Given the description of an element on the screen output the (x, y) to click on. 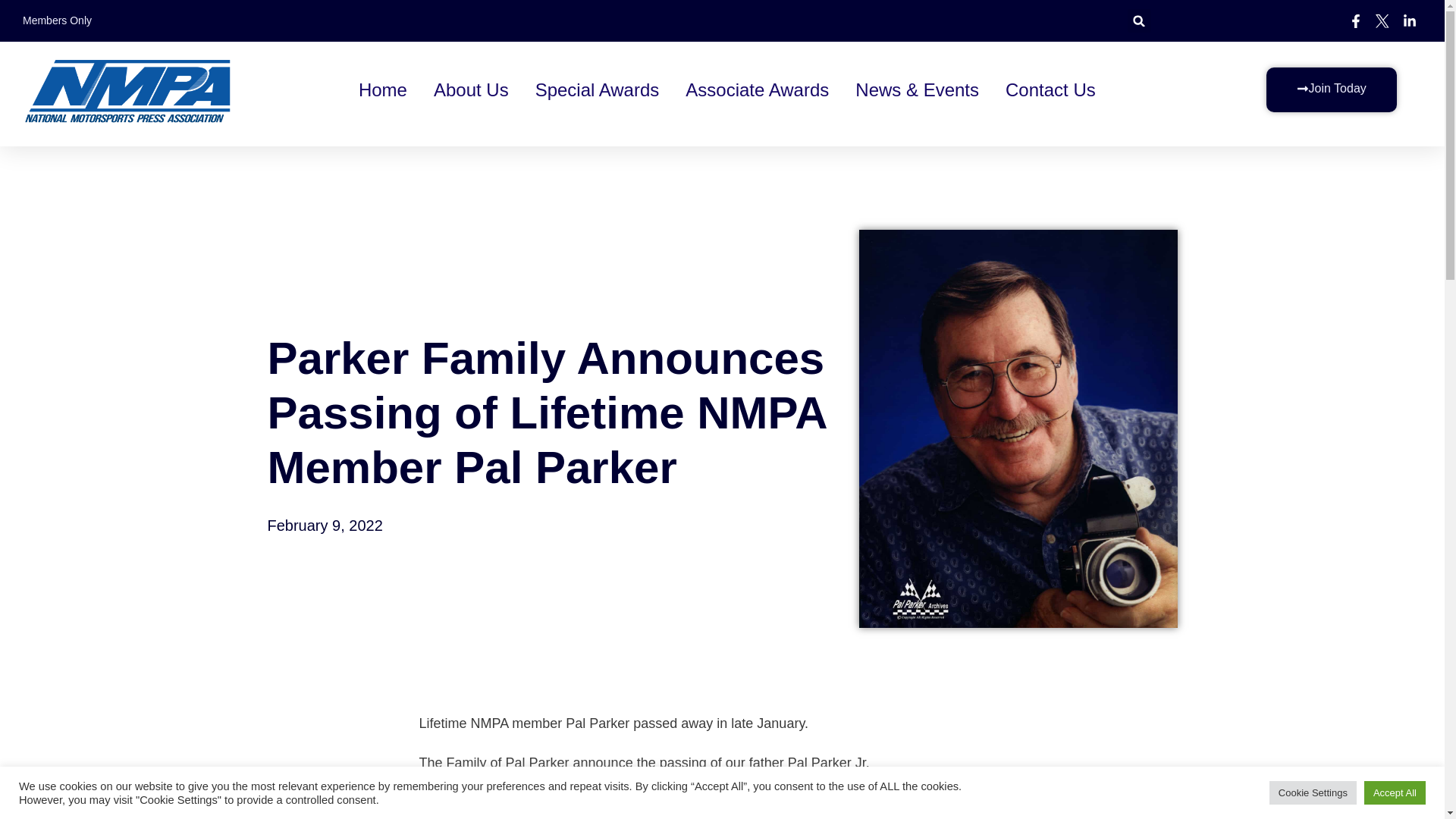
Contact Us (1051, 89)
Members Only (57, 20)
Special Awards (597, 89)
Home (382, 89)
Associate Awards (756, 89)
About Us (470, 89)
